Given the description of an element on the screen output the (x, y) to click on. 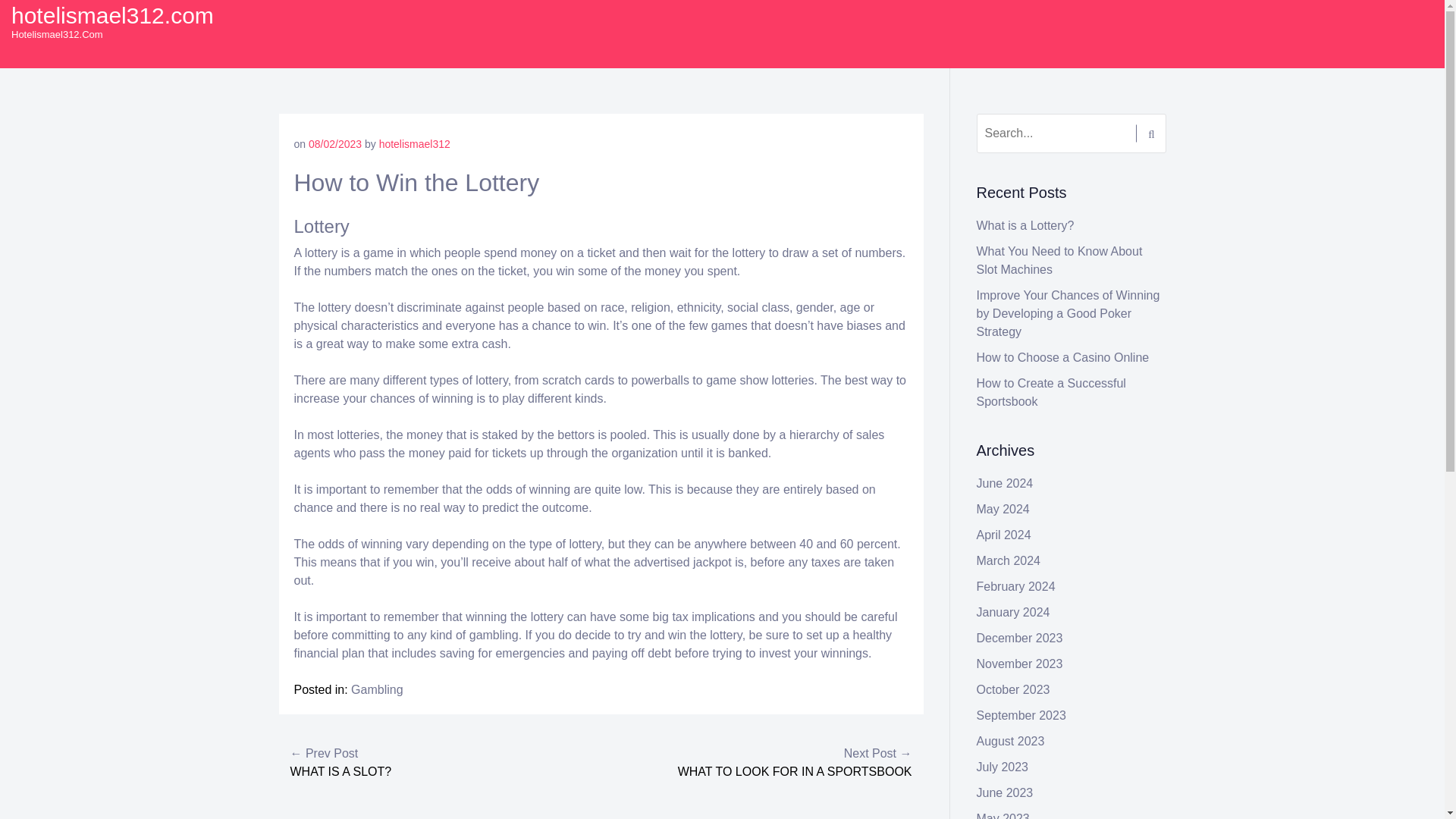
May 2023 (1002, 815)
May 2024 (1002, 508)
December 2023 (1019, 637)
October 2023 (1012, 689)
July 2023 (1002, 766)
April 2024 (1003, 534)
Gambling (376, 689)
June 2024 (1004, 482)
What You Need to Know About Slot Machines (1059, 260)
February 2024 (1015, 585)
January 2024 (1012, 612)
hotelismael312.com (112, 15)
How to Choose a Casino Online (1063, 357)
November 2023 (1019, 663)
hotelismael312 (413, 143)
